Given the description of an element on the screen output the (x, y) to click on. 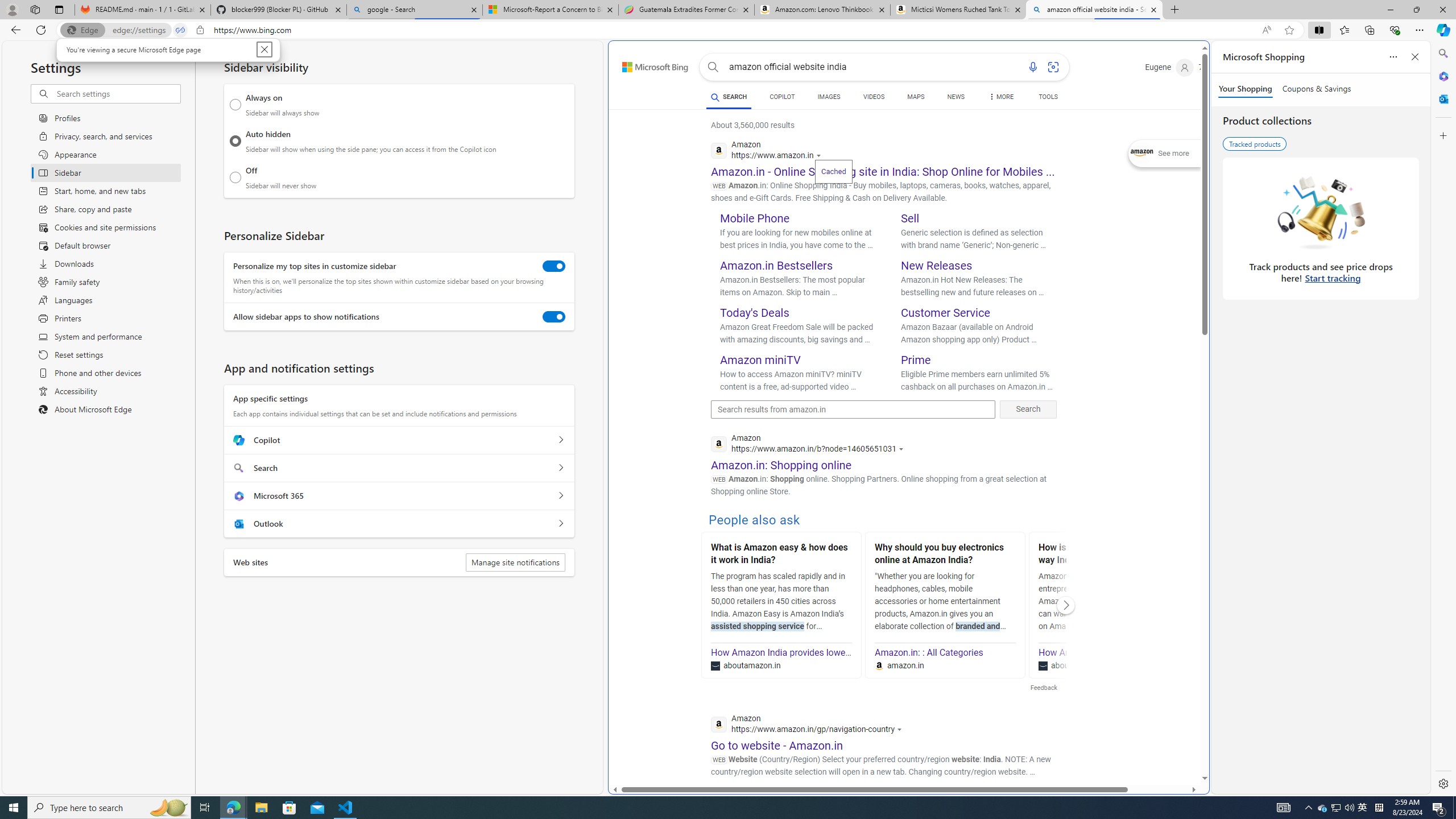
COPILOT (781, 96)
COPILOT (781, 98)
TOOLS (1048, 96)
Amazon (830, 805)
TOOLS (1048, 98)
Today's Deals (754, 312)
